Given the description of an element on the screen output the (x, y) to click on. 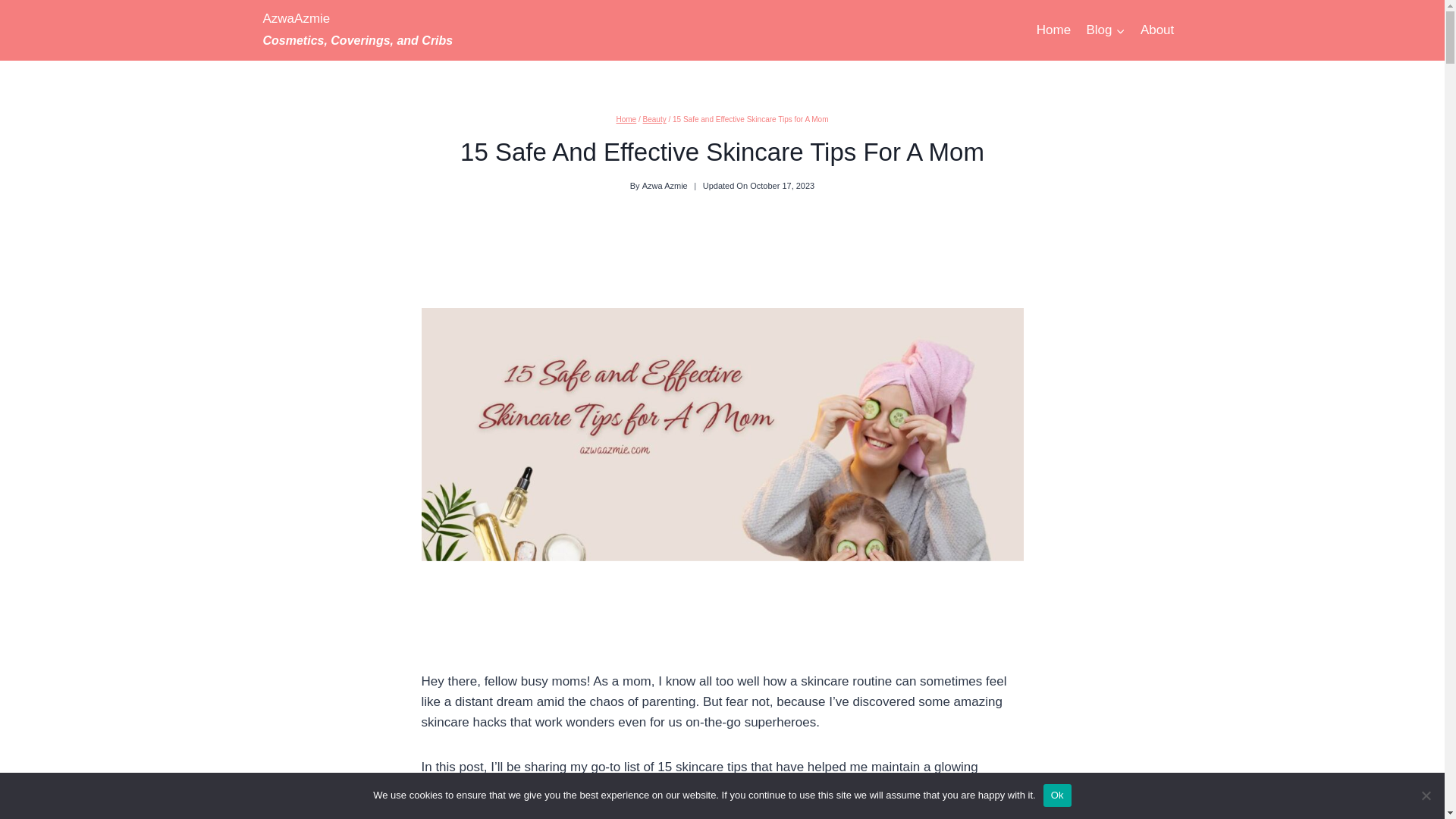
About (1157, 30)
Blog (1105, 30)
Beauty (654, 119)
No (357, 30)
Azwa Azmie (1425, 795)
Home (664, 185)
Home (1053, 30)
